Given the description of an element on the screen output the (x, y) to click on. 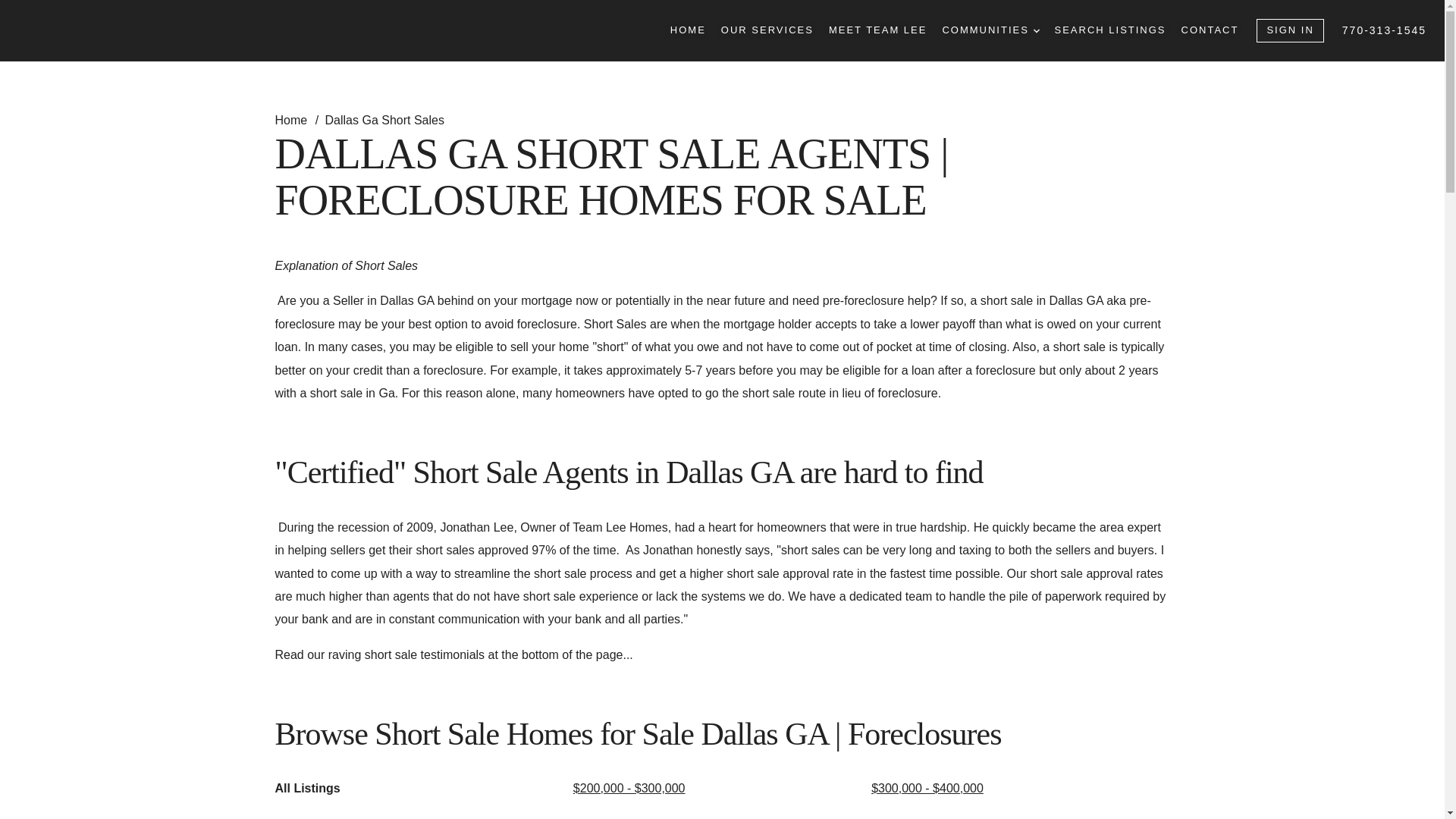
MEET TEAM LEE (877, 30)
DROPDOWN ARROW (1035, 30)
HOME (687, 30)
COMMUNITIES DROPDOWN ARROW (990, 30)
OUR SERVICES (766, 30)
